Given the description of an element on the screen output the (x, y) to click on. 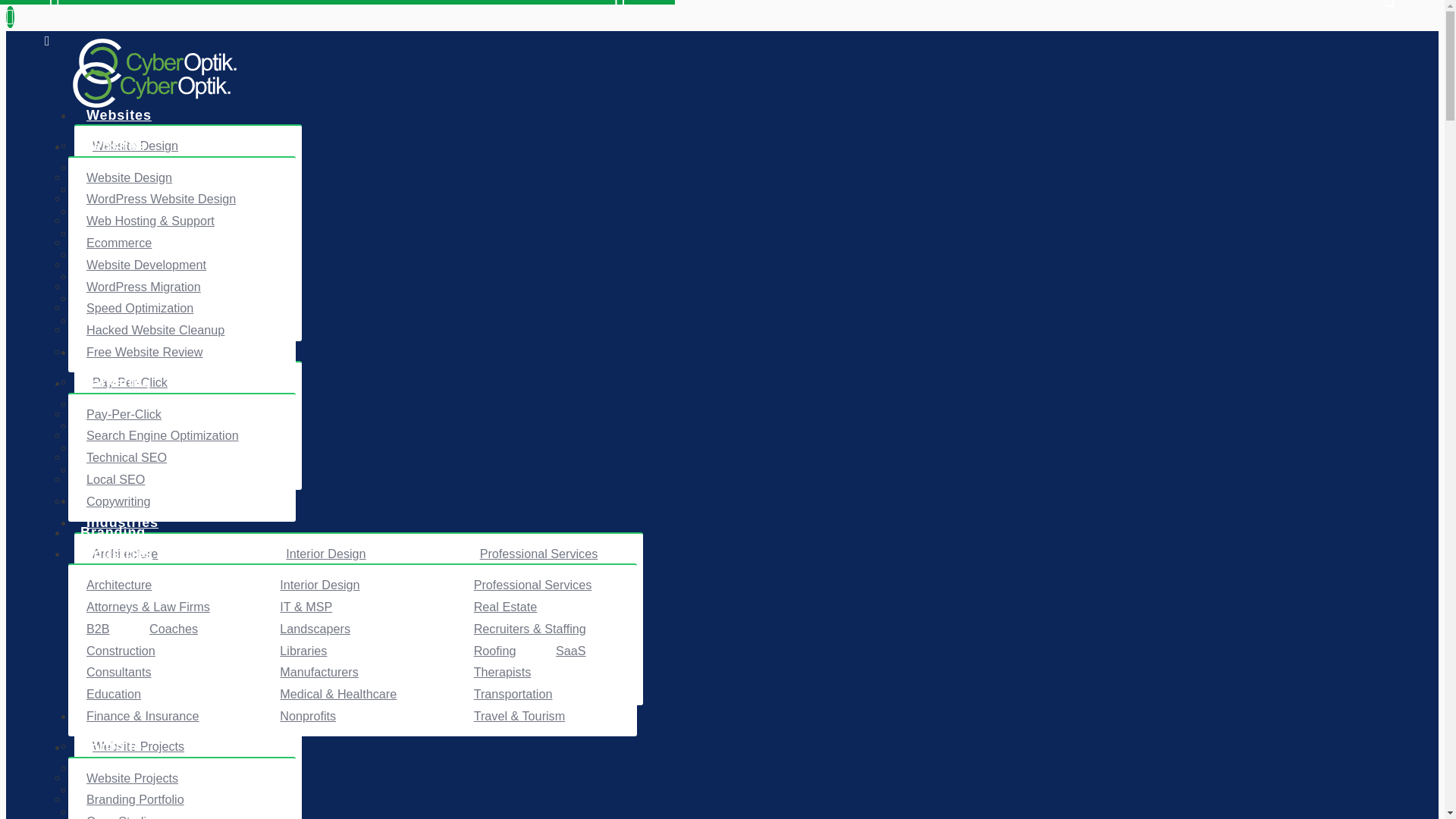
Real Estate (511, 575)
Local SEO (121, 447)
WordPress Migration (149, 254)
Branding (118, 500)
Website Design (135, 145)
Pay-Per-Click (130, 381)
Consultants (124, 640)
Speed Optimization (145, 276)
Marketing (121, 351)
Manufacturers (324, 640)
Coaches (179, 597)
Interior Design (325, 553)
Website Development (152, 233)
Websites (118, 115)
Search Engine Optimization (168, 403)
